Given the description of an element on the screen output the (x, y) to click on. 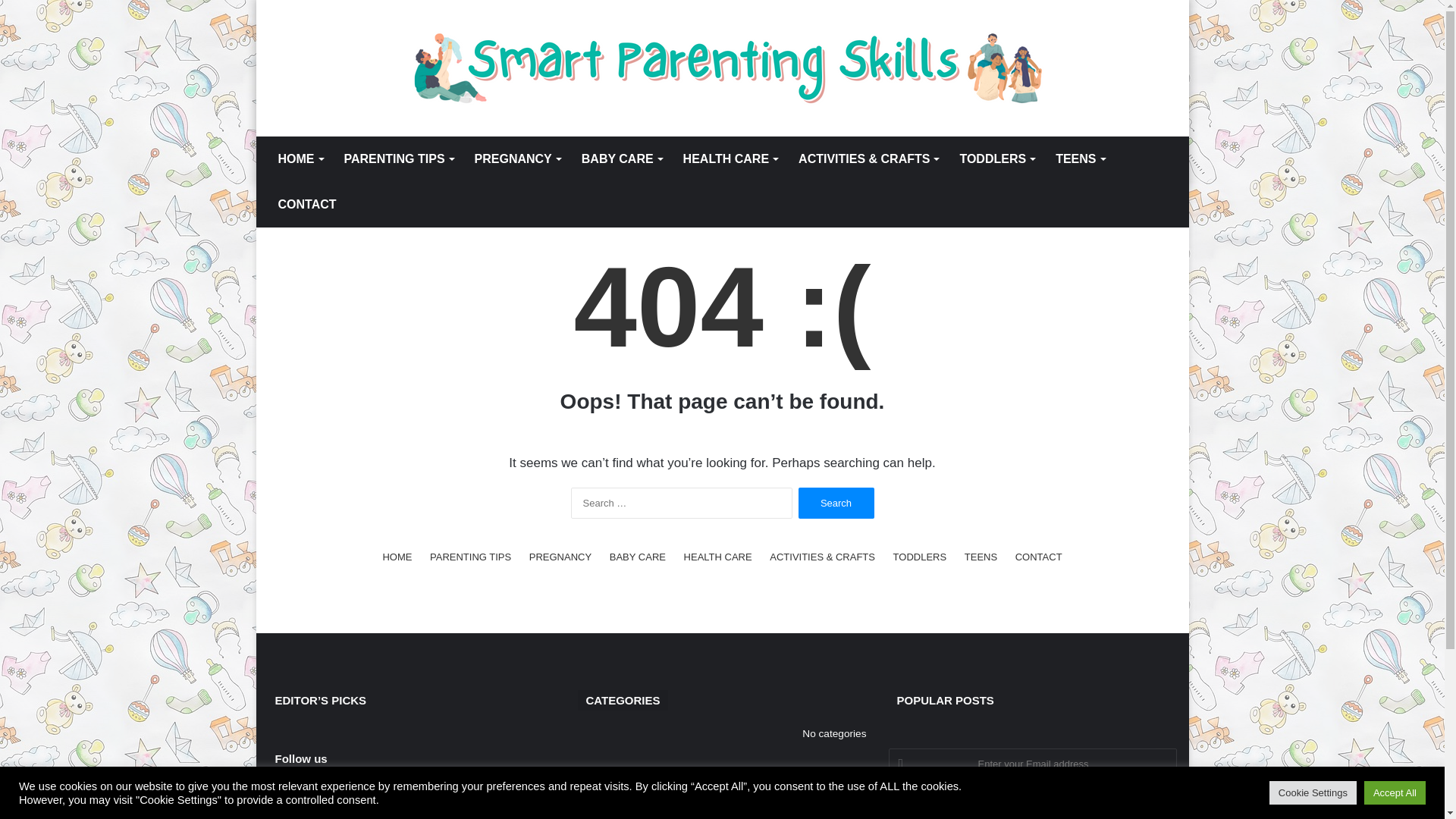
HEALTH CARE (718, 556)
TEENS (980, 556)
TODDLERS (997, 158)
HOME (396, 556)
PARENTING TIPS (398, 158)
PREGNANCY (560, 556)
Search (835, 502)
PARENTING TIPS (470, 556)
BABY CARE (621, 158)
Cookie Settings (1312, 792)
Follow us (300, 758)
Subscribe (1032, 802)
CONTACT (1038, 556)
HEALTH CARE (729, 158)
Subscribe (1032, 802)
